Given the description of an element on the screen output the (x, y) to click on. 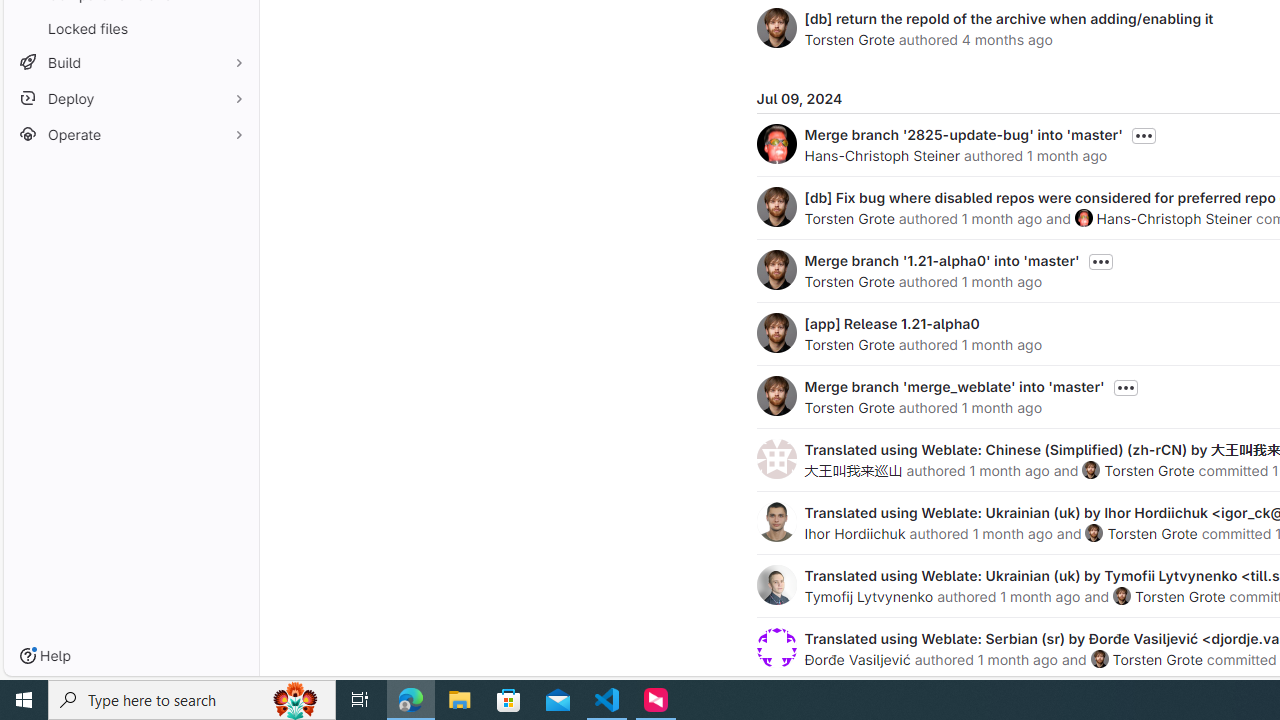
Merge branch '1.21-alpha0' into 'master' (941, 260)
Torsten Grote's avatar (1099, 659)
Hans-Christoph Steiner (1174, 218)
Hans-Christoph Steiner's avatar (1083, 217)
Build (130, 62)
[app] Release 1.21-alpha0 (891, 323)
Tymofij Lytvynenko's avatar (776, 584)
Torsten Grote (1157, 659)
Deploy (130, 98)
Hans-Christoph Steiner's avatar (1083, 217)
Operate (130, 134)
